Given the description of an element on the screen output the (x, y) to click on. 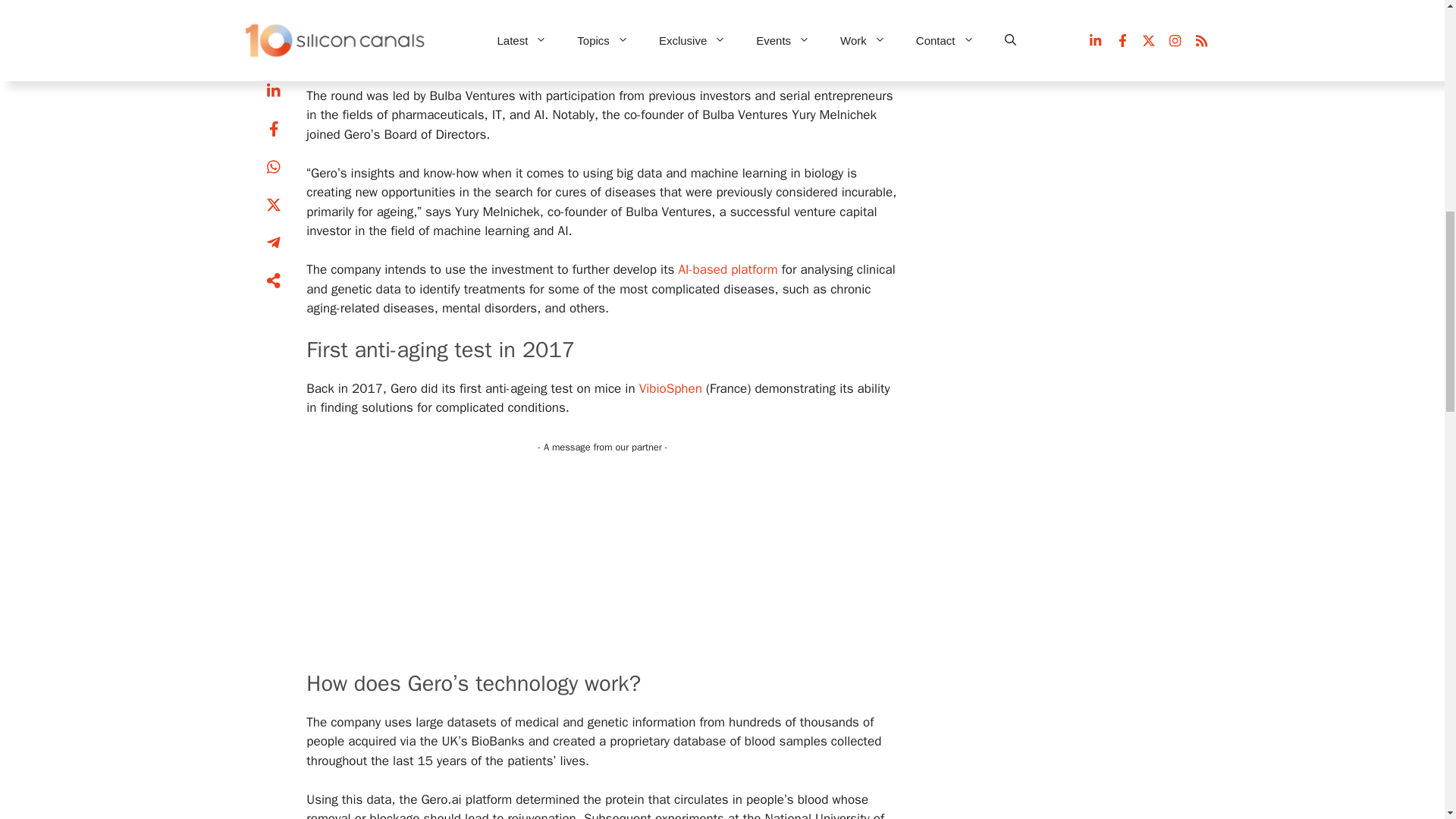
Scroll back to top (1406, 720)
